Given the description of an element on the screen output the (x, y) to click on. 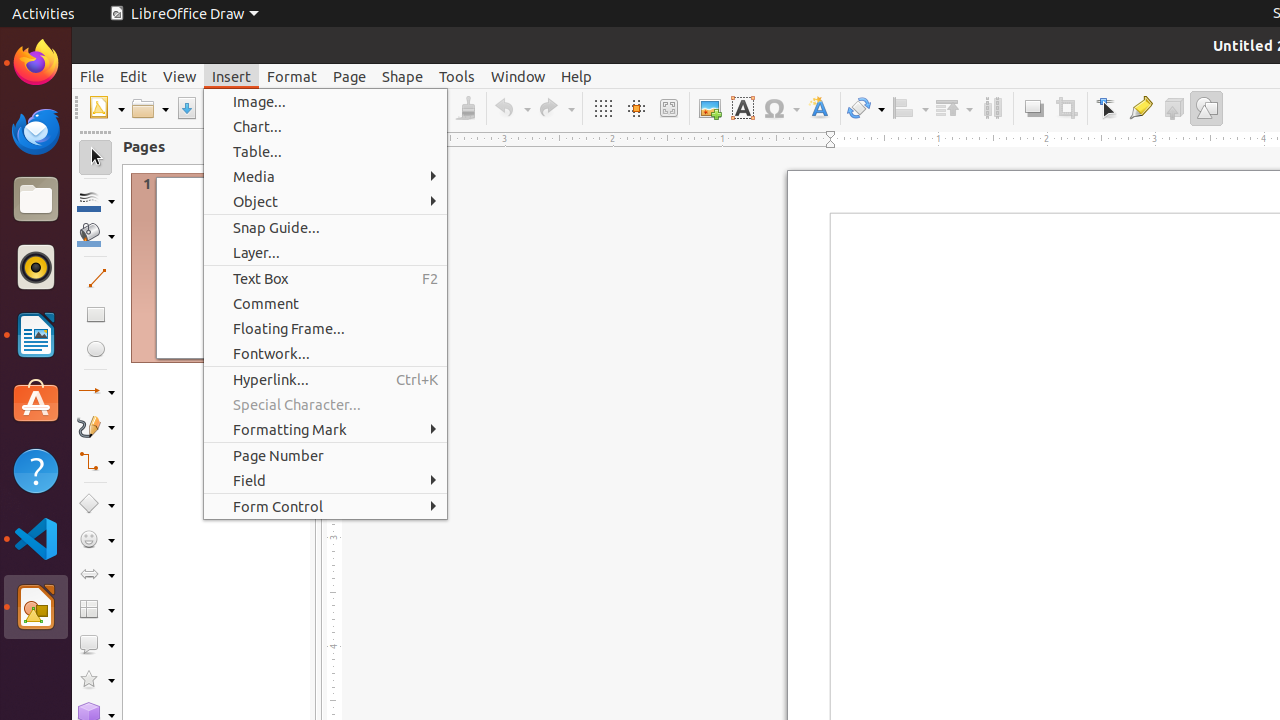
Lines and Arrows Element type: push-button (96, 391)
Distribution Element type: push-button (992, 108)
Media Element type: menu (325, 176)
Shape Element type: menu (402, 76)
Window Element type: menu (518, 76)
